Given the description of an element on the screen output the (x, y) to click on. 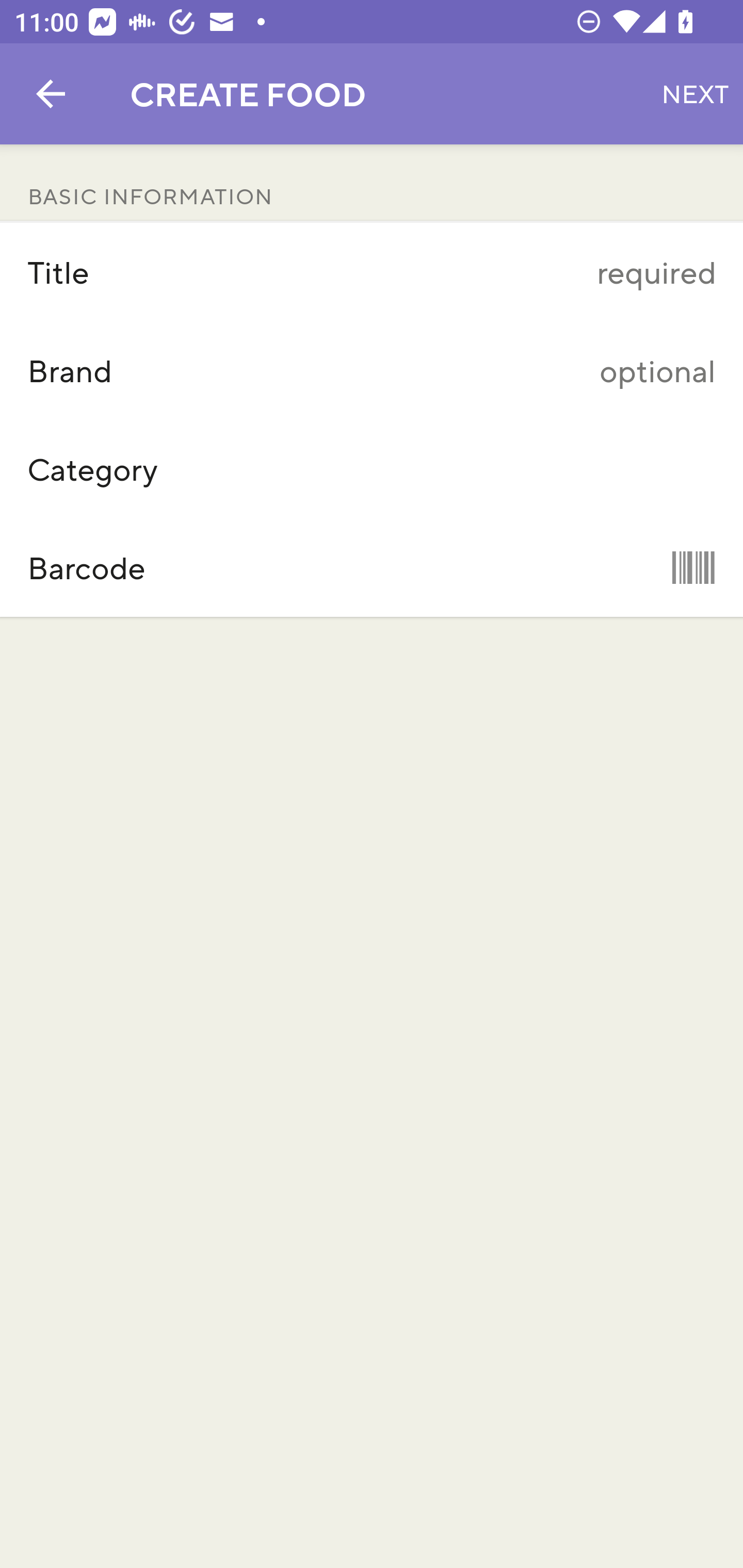
Navigate up (50, 93)
NEXT (695, 93)
required (474, 271)
optional (474, 370)
Category (371, 469)
Barcode (371, 567)
